Given the description of an element on the screen output the (x, y) to click on. 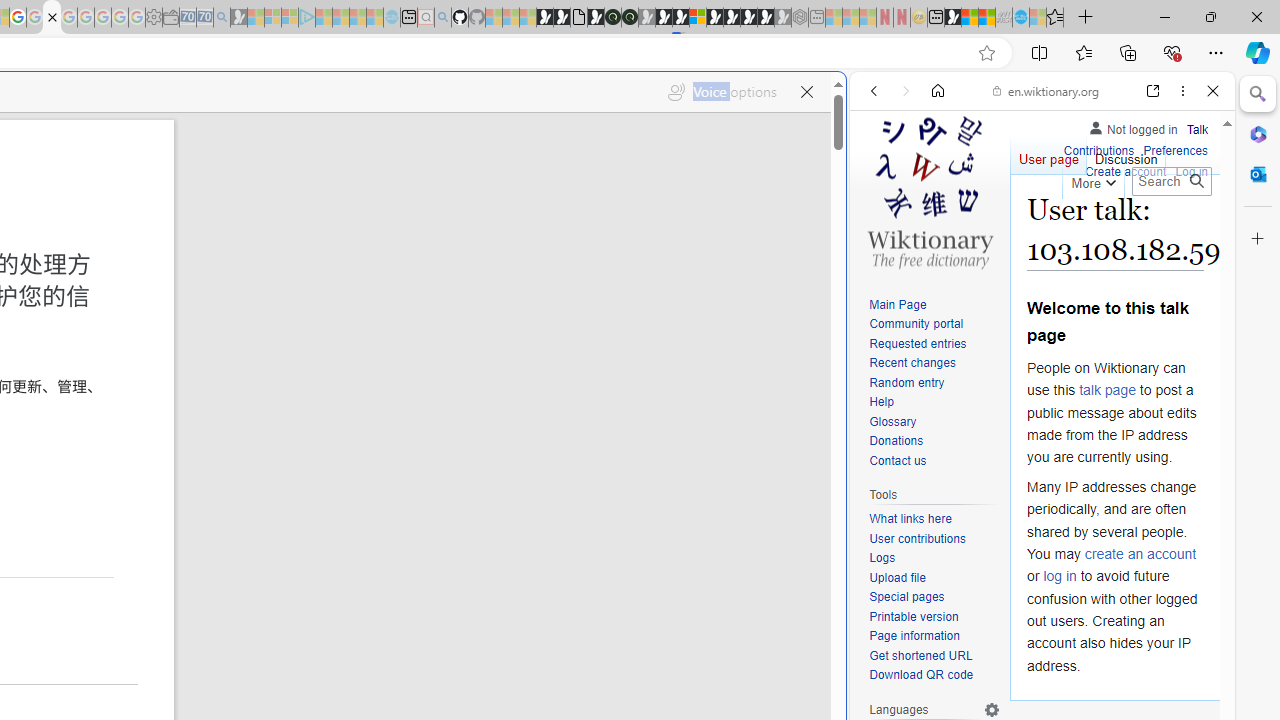
Search Wiktionary (1171, 181)
Log in (1191, 169)
User page (1048, 154)
Random entry (906, 382)
Earth has six continents not seven, radical new study claims (986, 17)
Printable version (913, 616)
Community portal (934, 324)
Download QR code (921, 675)
